Given the description of an element on the screen output the (x, y) to click on. 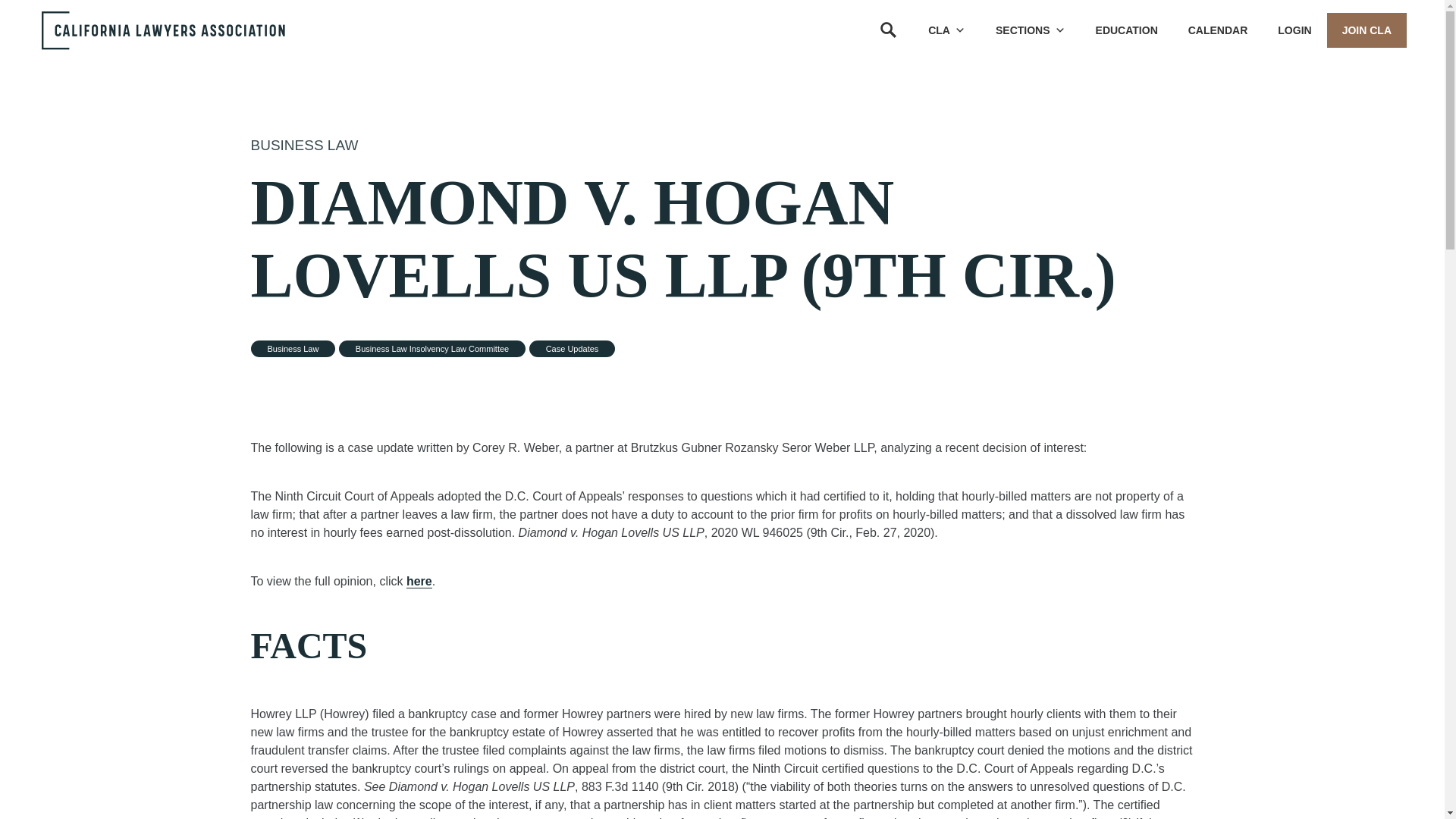
SECTIONS (1029, 30)
CLA (945, 30)
Business Law (304, 145)
